Given the description of an element on the screen output the (x, y) to click on. 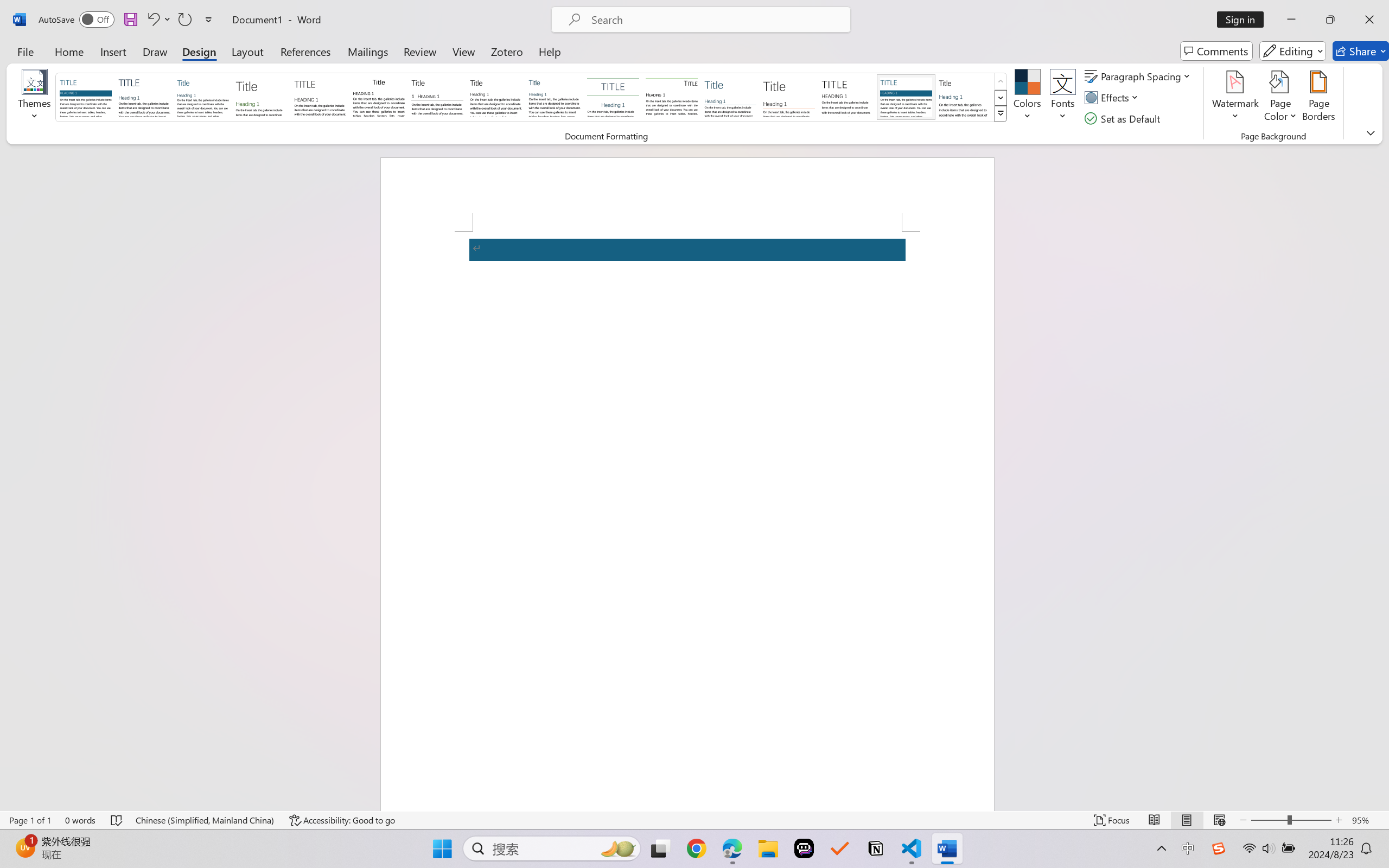
Undo Apply Quick Style Set (152, 19)
Repeat Style (184, 19)
Minimalist (847, 96)
Basic (Stylish) (260, 96)
Colors (1027, 97)
